Given the description of an element on the screen output the (x, y) to click on. 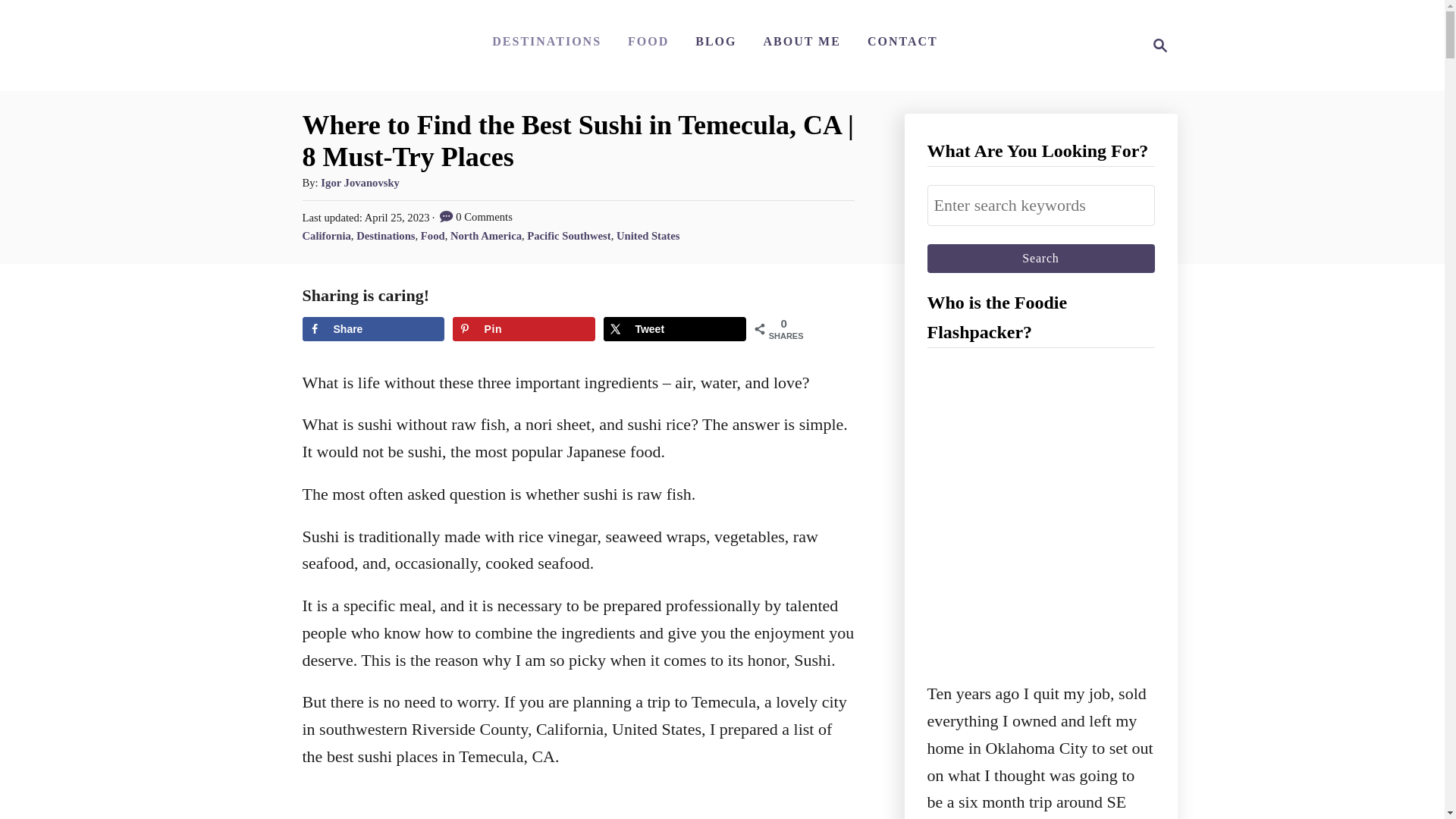
Search (1040, 258)
Search (1040, 258)
Magnifying Glass (1160, 45)
Search for: (1155, 45)
Share on Facebook (1040, 205)
Share on X (372, 328)
Save to Pinterest (674, 328)
Skip to Content (523, 328)
